Given the description of an element on the screen output the (x, y) to click on. 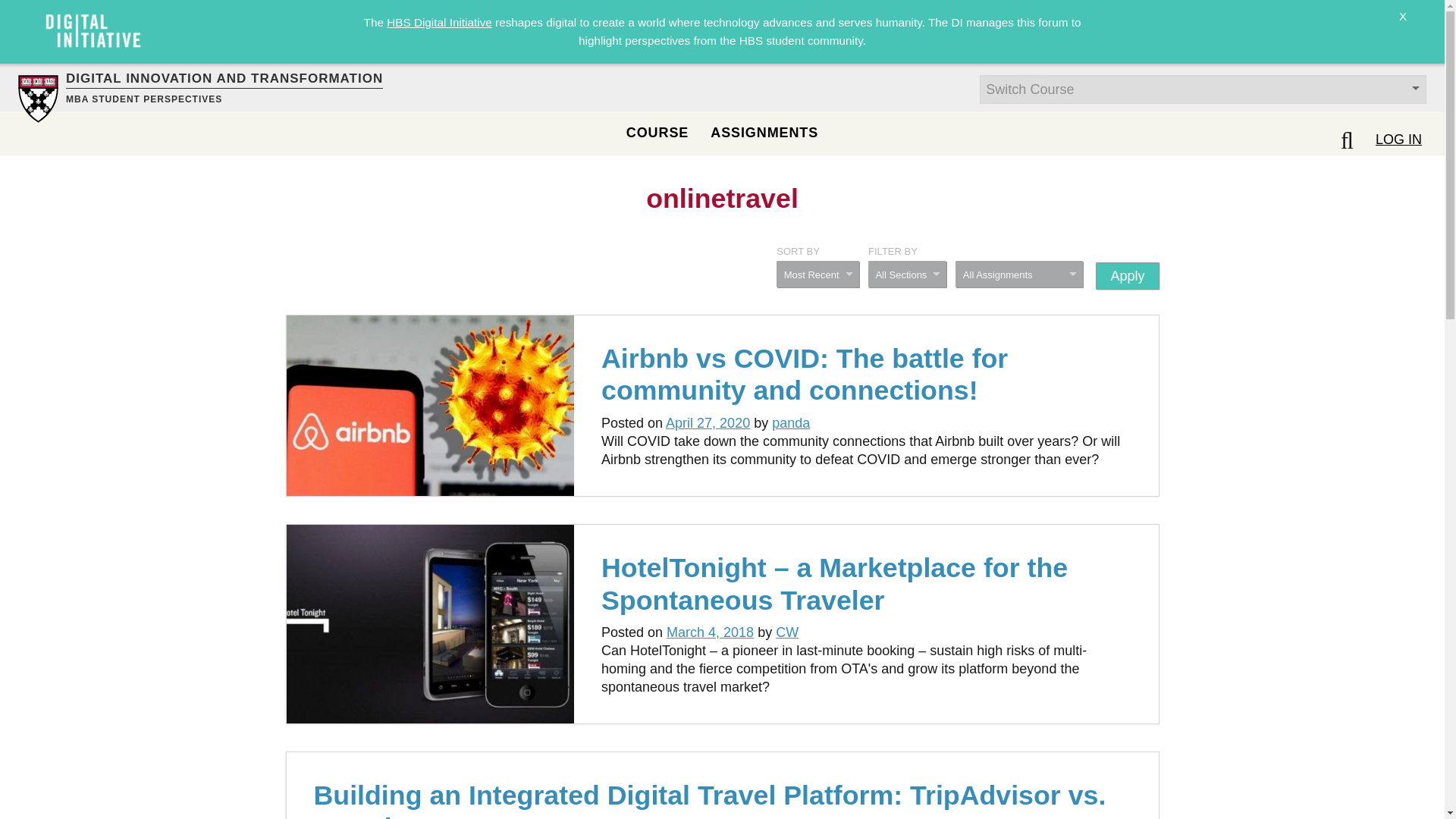
Go (18, 9)
LOG IN (1398, 139)
March 4, 2018 (710, 631)
Apply (1127, 275)
panda (790, 422)
Airbnb vs COVID: The battle for community and connections! (804, 374)
Close and dismiss. (1403, 26)
HBS Digital Initiative (439, 21)
COURSE (657, 132)
CW (786, 631)
ASSIGNMENTS (764, 132)
Apply (1127, 275)
April 27, 2020 (707, 422)
